Given the description of an element on the screen output the (x, y) to click on. 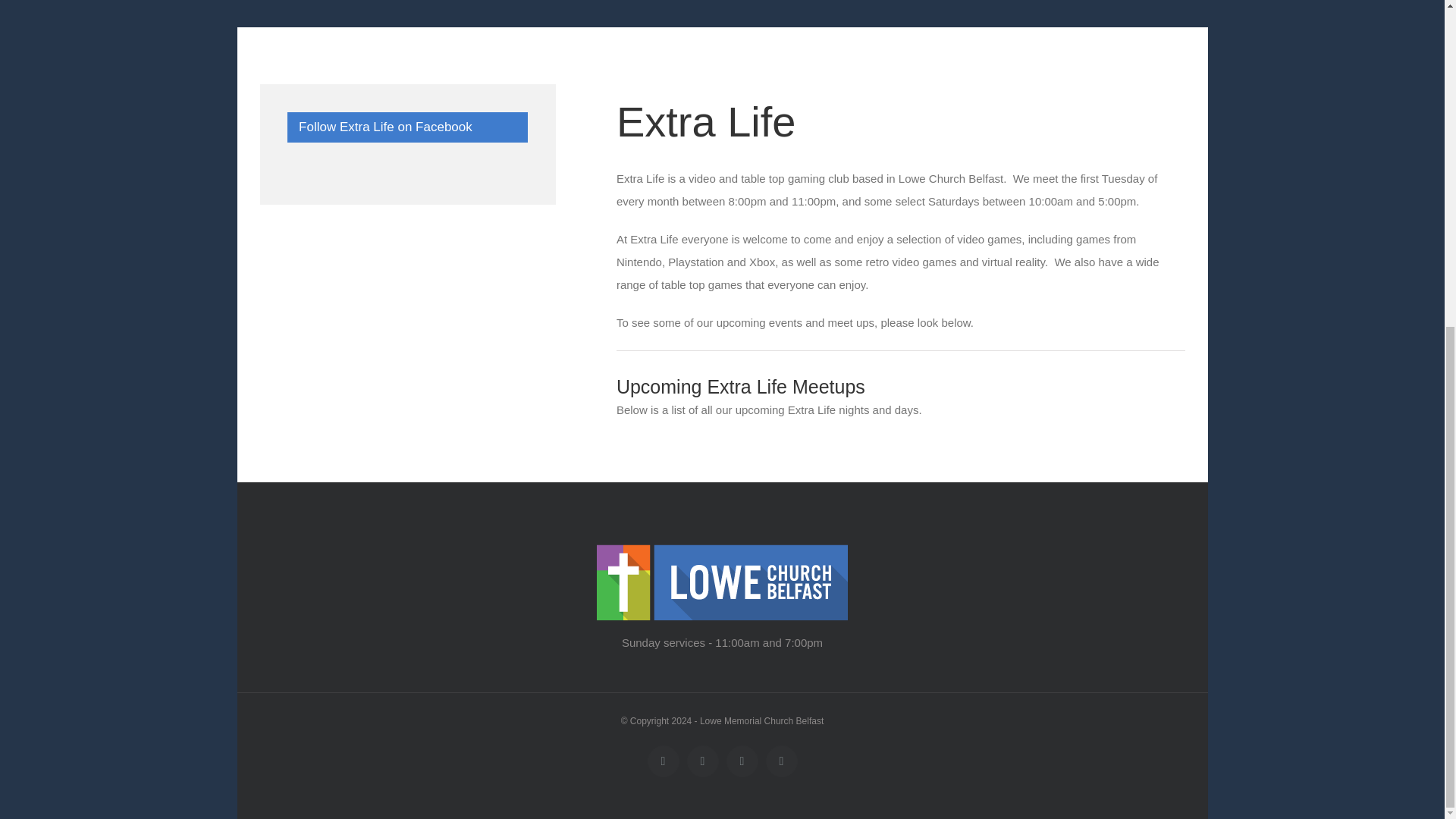
Instagram (781, 761)
Email (703, 761)
Facebook (663, 761)
YouTube (742, 761)
